Given the description of an element on the screen output the (x, y) to click on. 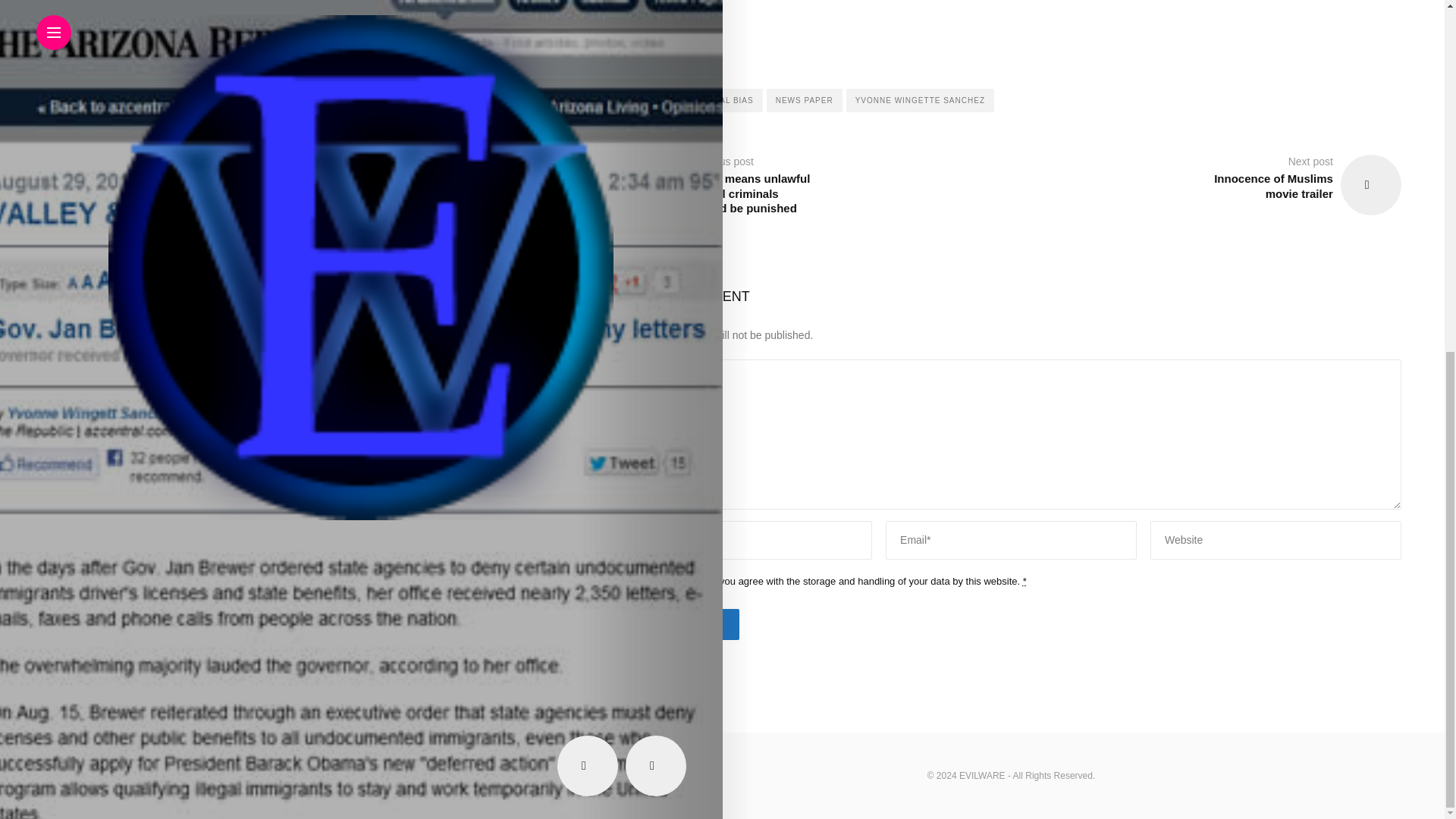
Post Comment (680, 624)
YVONNE WINGETTE SANCHEZ (919, 100)
Post Comment (680, 624)
LIBERAL BIAS (722, 100)
1 (627, 583)
ARIZONIA (651, 100)
NEWS PAPER (805, 100)
